Given the description of an element on the screen output the (x, y) to click on. 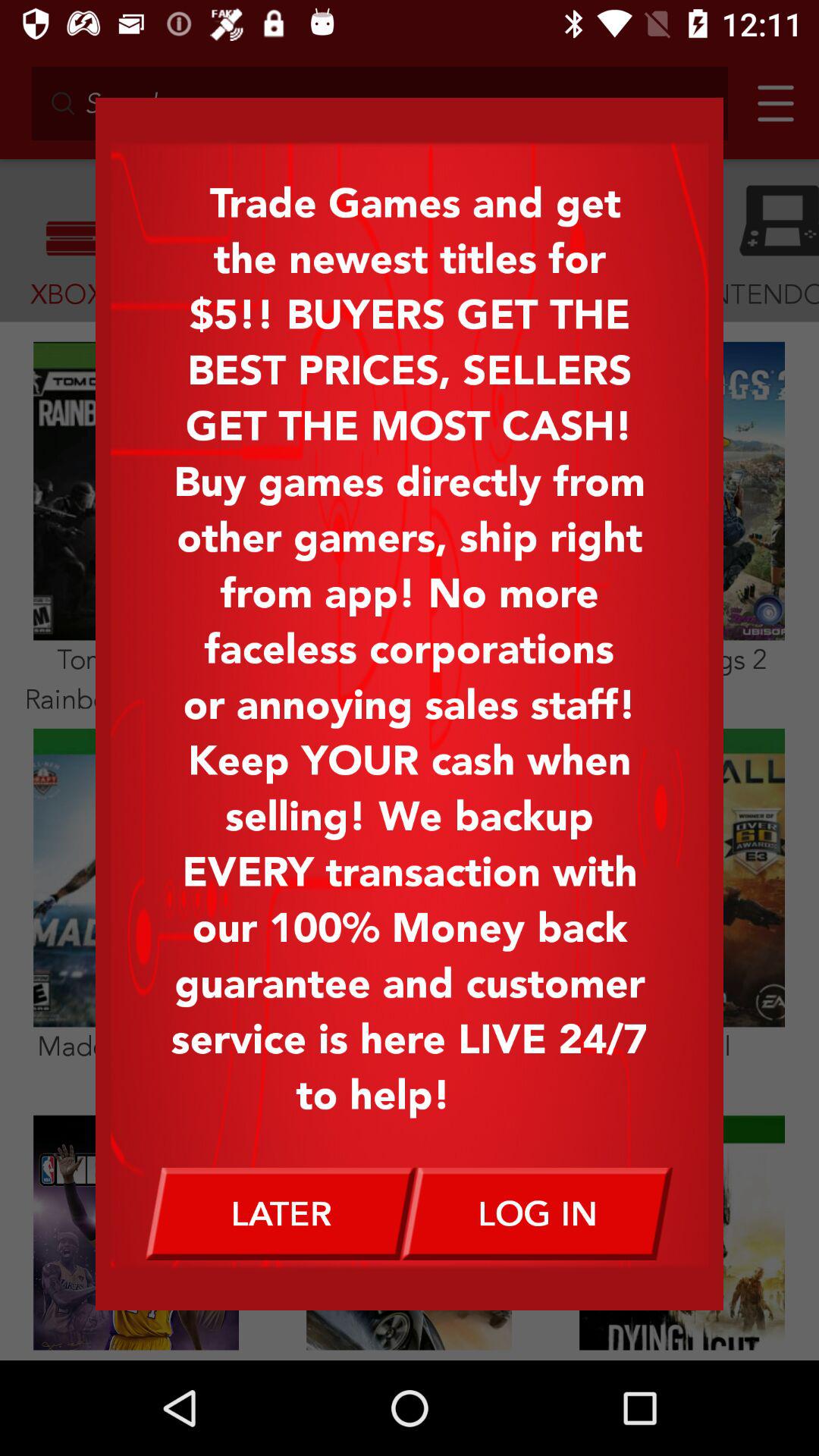
click the icon below the trade games and item (280, 1213)
